Given the description of an element on the screen output the (x, y) to click on. 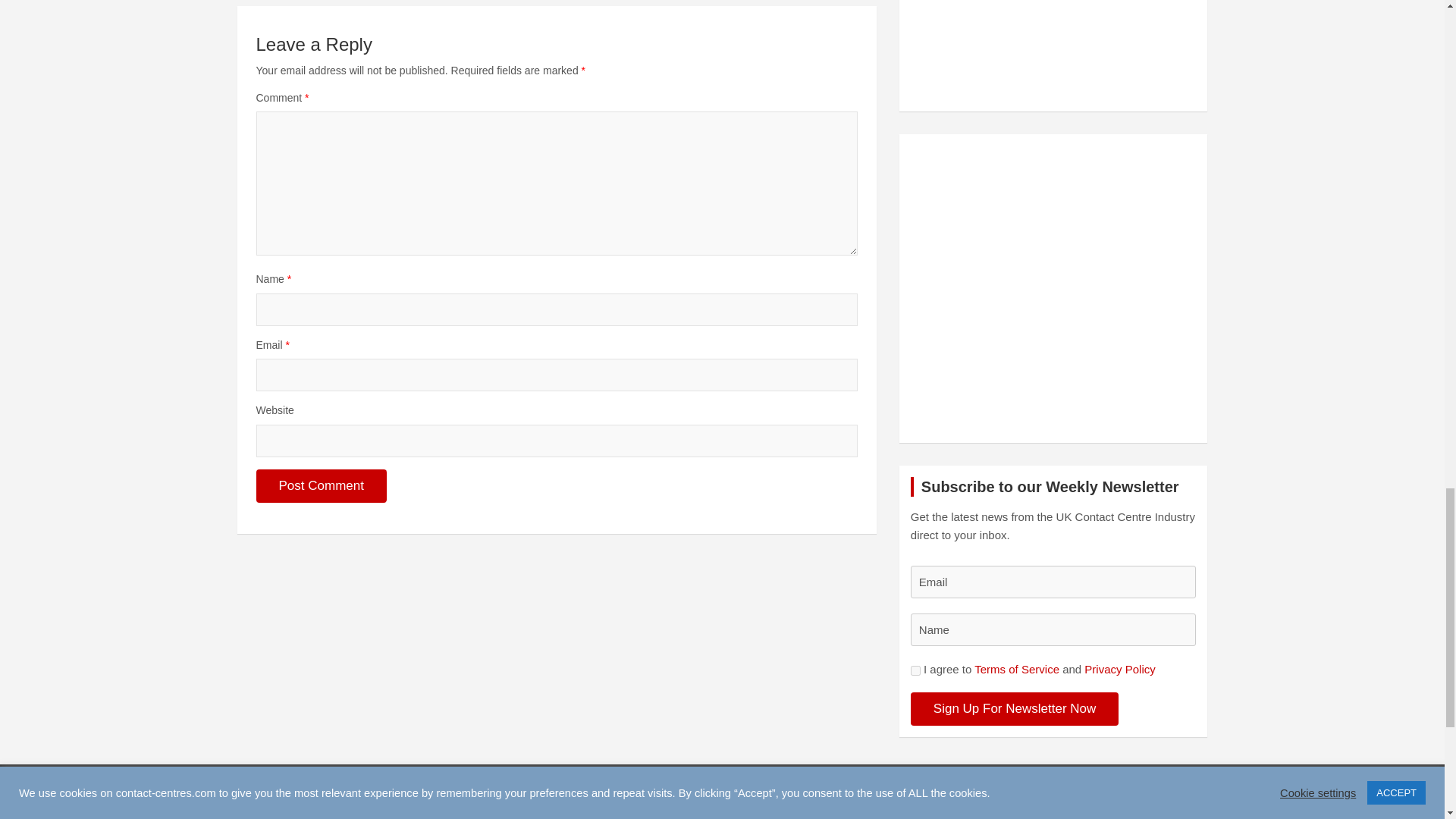
1 (915, 670)
Sign Up For Newsletter Now (1014, 708)
Post Comment (321, 485)
Email (1053, 581)
Name (1053, 629)
